Given the description of an element on the screen output the (x, y) to click on. 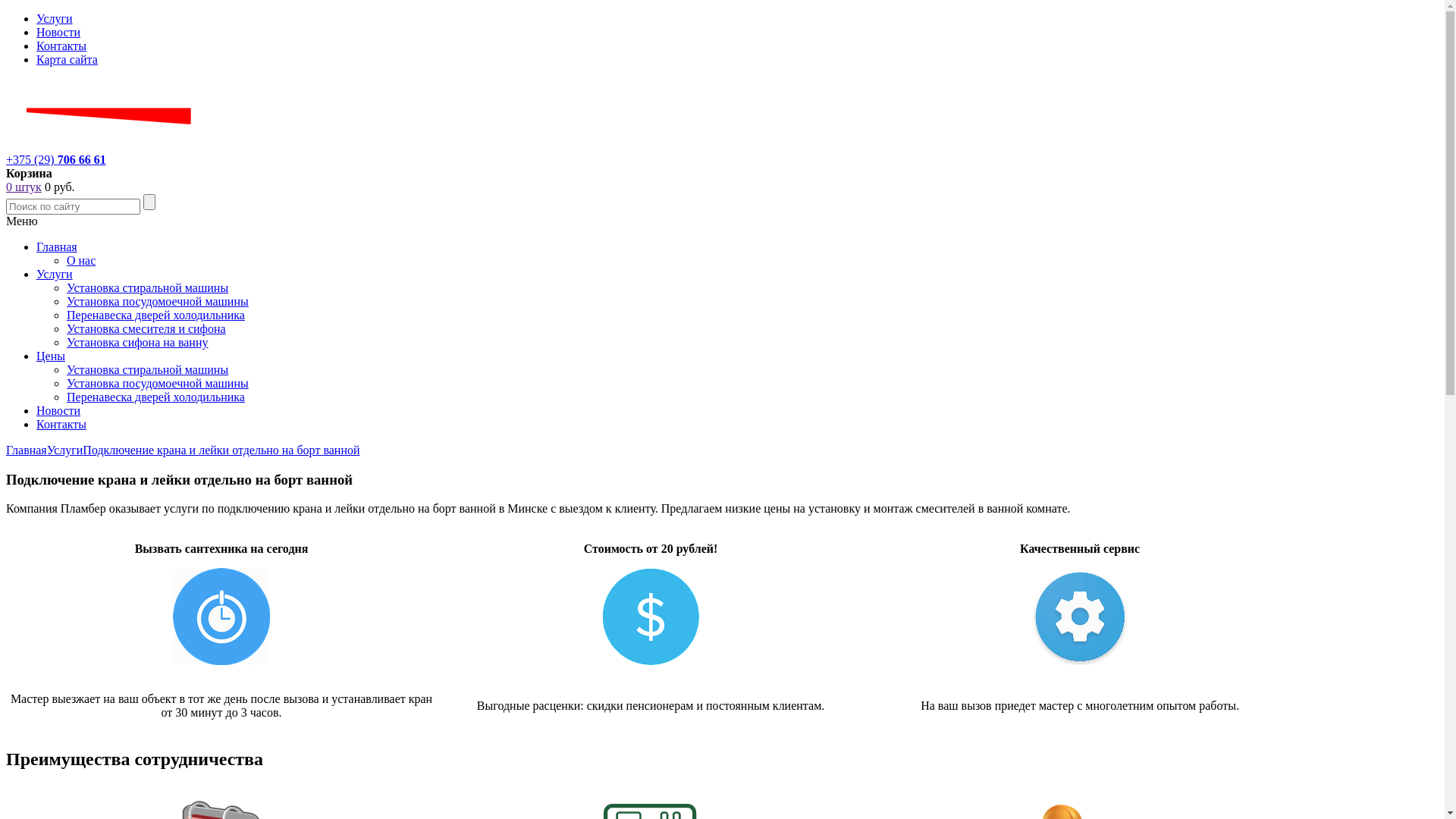
+375 (29) 706 66 61 Element type: text (56, 159)
